Given the description of an element on the screen output the (x, y) to click on. 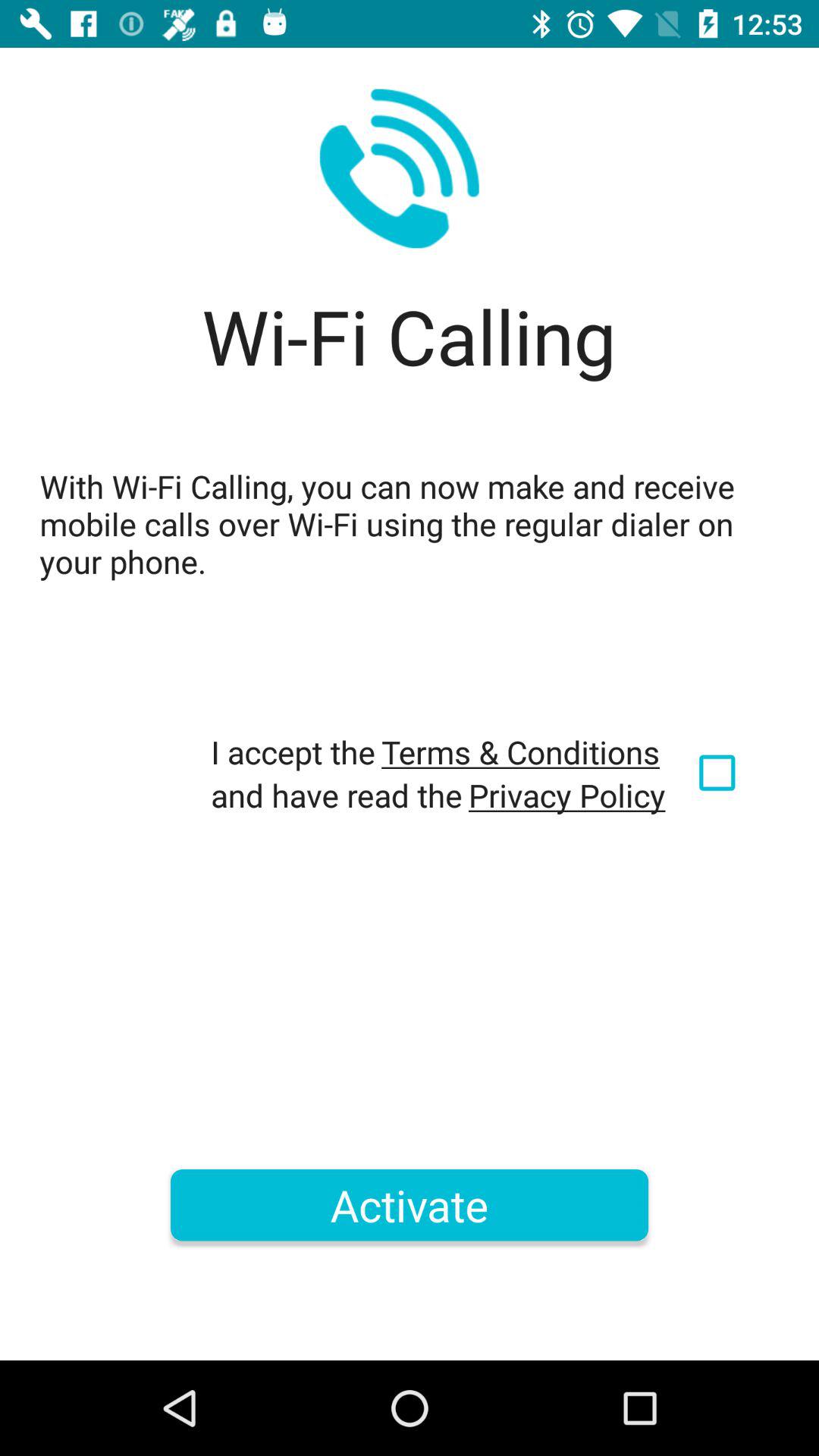
click the privacy policy icon (566, 794)
